Given the description of an element on the screen output the (x, y) to click on. 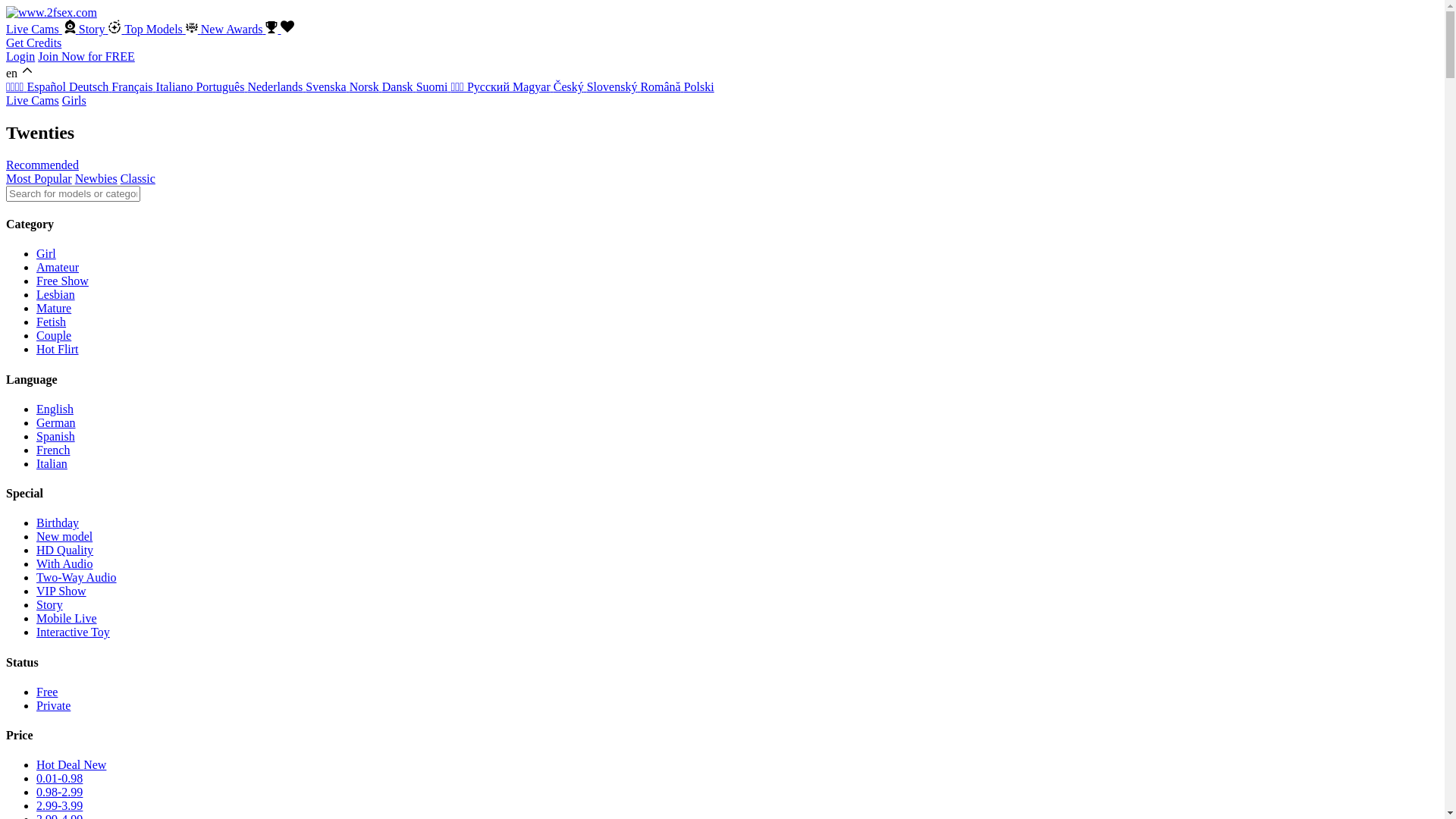
Polski Element type: text (699, 86)
0.98-2.99 Element type: text (59, 791)
Story Element type: text (49, 604)
Dansk Element type: text (399, 86)
Recommended Element type: text (42, 164)
Deutsch Element type: text (90, 86)
Girls Element type: text (74, 100)
0.01-0.98 Element type: text (59, 777)
French Element type: text (52, 449)
Get Credits Element type: text (33, 42)
Suomi Element type: text (433, 86)
Free Element type: text (46, 691)
Join Now for FREE Element type: text (85, 56)
Story Story Element type: text (101, 28)
Couple Element type: text (53, 335)
Spanish Element type: text (55, 435)
Nederlands Element type: text (276, 86)
VIP Show Element type: text (61, 590)
Amateur Element type: text (57, 266)
Two-Way Audio Element type: text (76, 577)
German Element type: text (55, 422)
Newbies Element type: text (96, 178)
English Element type: text (54, 408)
Mature Element type: text (53, 307)
Girl Element type: text (46, 253)
Italian Element type: text (51, 463)
Interactive Toy Element type: text (72, 631)
New model Element type: text (64, 536)
Hot Deal New Element type: text (71, 764)
Birthday Element type: text (57, 522)
Private Element type: text (53, 705)
2.99-3.99 Element type: text (59, 805)
Magyar Element type: text (532, 86)
Norsk Element type: text (365, 86)
Lesbian Element type: text (55, 294)
Mobile Live Element type: text (66, 617)
Classic Element type: text (137, 178)
Fetish Element type: text (50, 321)
Awards Awards Element type: text (252, 28)
Top Models Top Models New Element type: text (174, 28)
Live Cams Live Cams Element type: text (42, 28)
With Audio Element type: text (64, 563)
Italiano Element type: text (176, 86)
Hot Flirt Element type: text (57, 348)
Favorites Element type: text (287, 28)
Svenska Element type: text (326, 86)
Free Show Element type: text (62, 280)
Most Popular Element type: text (39, 178)
Login Element type: text (20, 56)
HD Quality Element type: text (64, 549)
Live Cams Element type: text (32, 100)
